Given the description of an element on the screen output the (x, y) to click on. 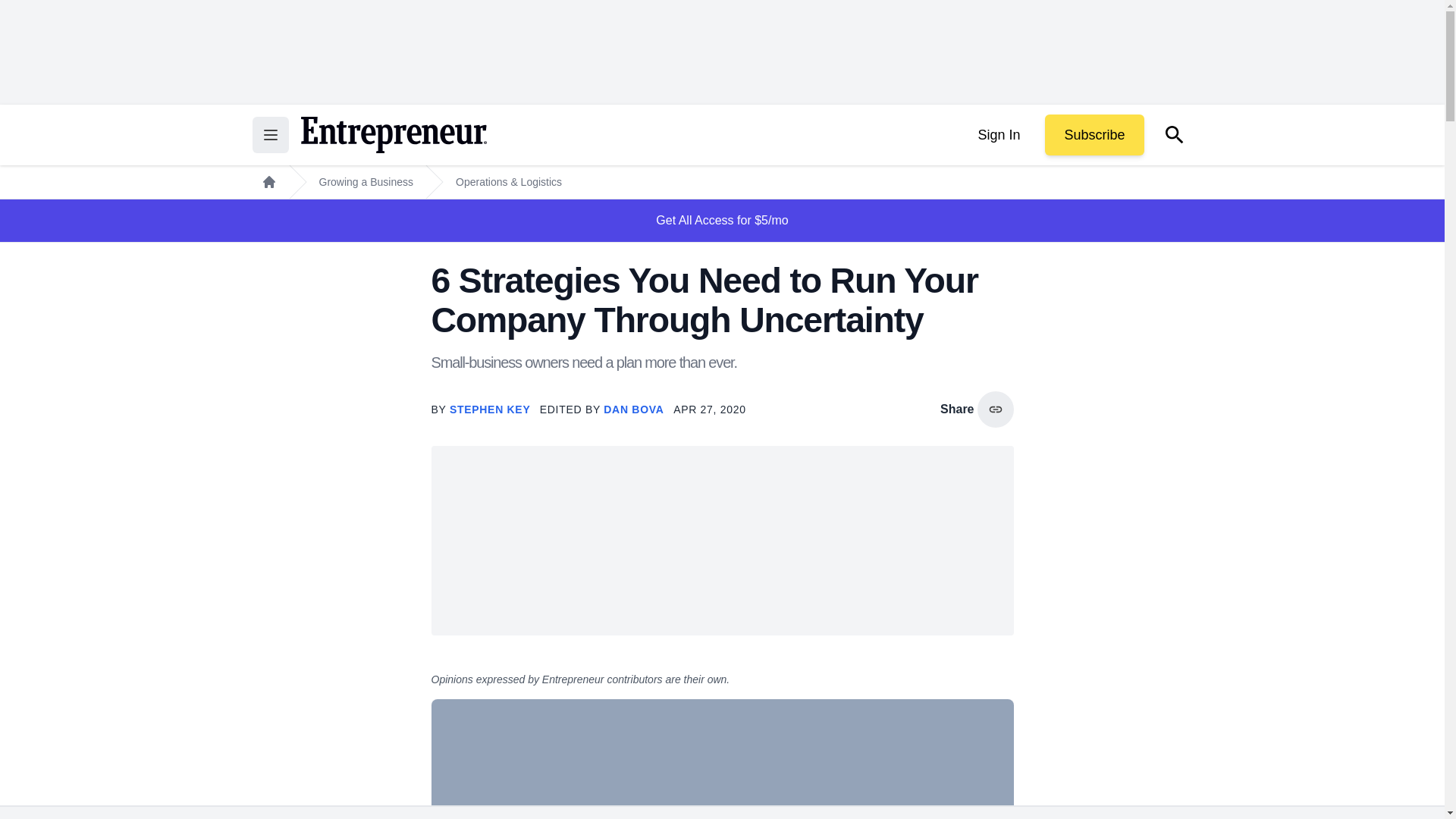
Return to the home page (392, 135)
Subscribe (1093, 134)
Sign In (998, 134)
copy (994, 409)
